Given the description of an element on the screen output the (x, y) to click on. 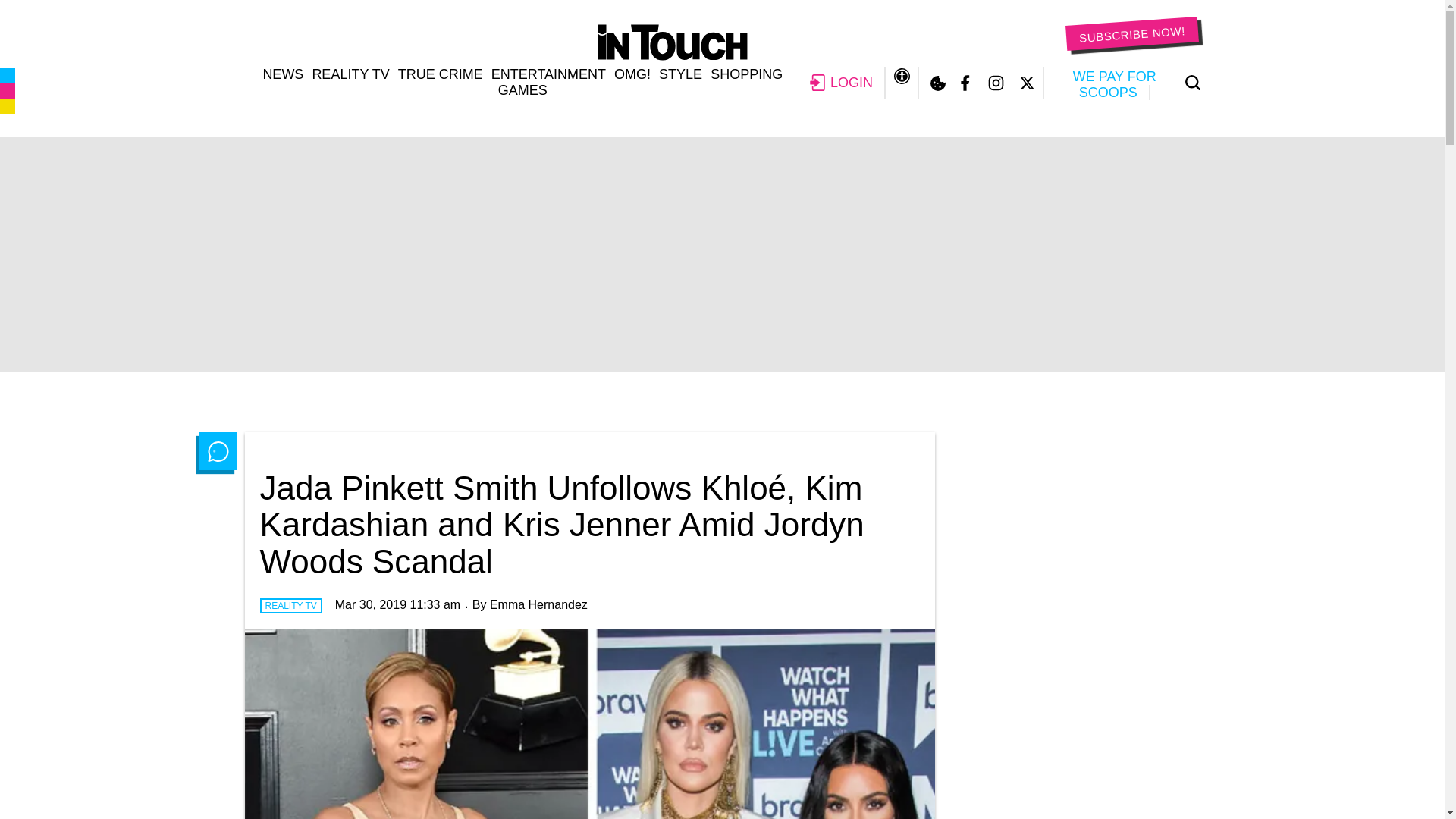
REALITY TV (349, 73)
Posts by Emma Hernandez (538, 604)
TRUE CRIME (440, 73)
NEWS (282, 73)
